Given the description of an element on the screen output the (x, y) to click on. 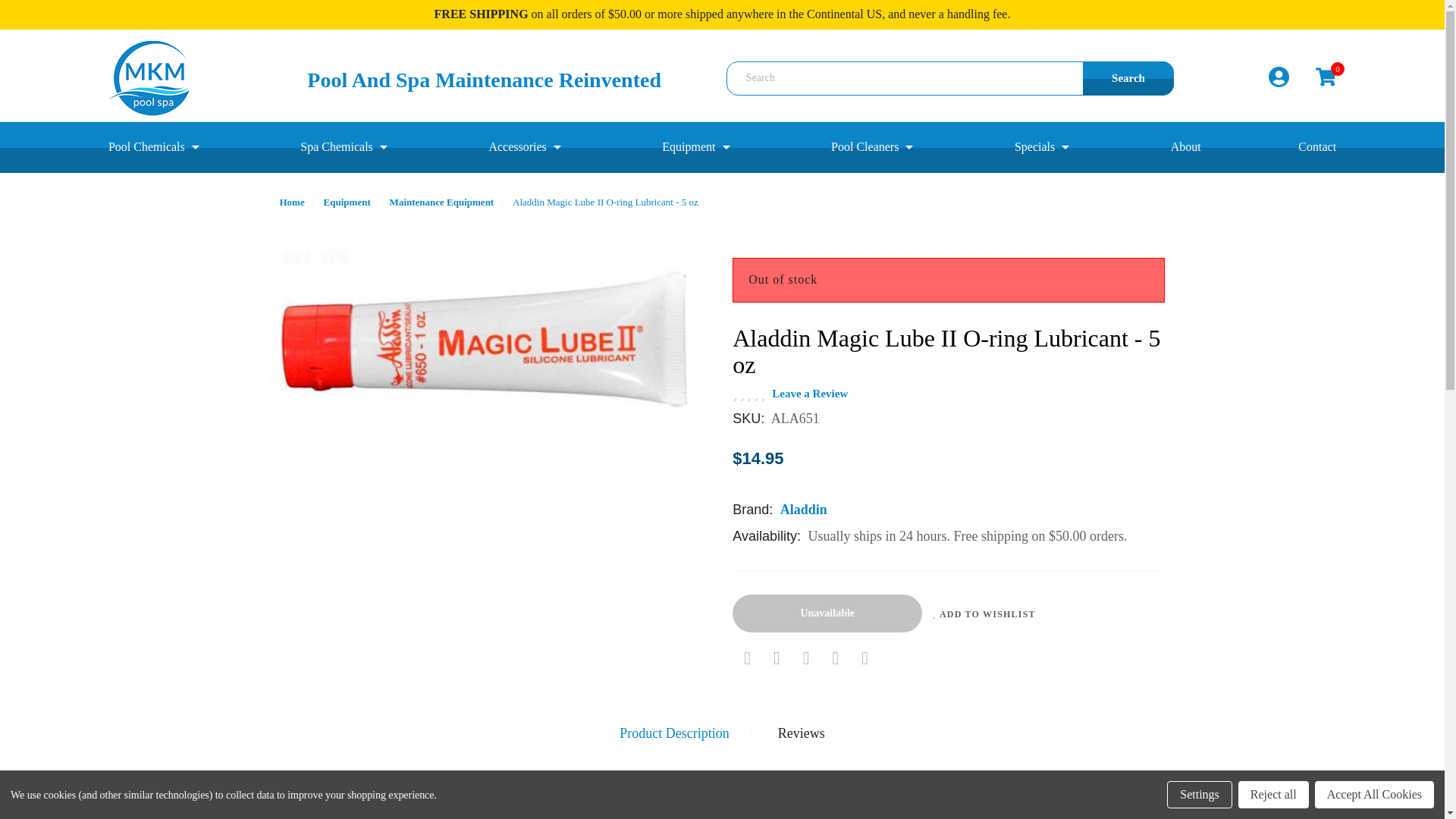
Search (1128, 78)
